Given the description of an element on the screen output the (x, y) to click on. 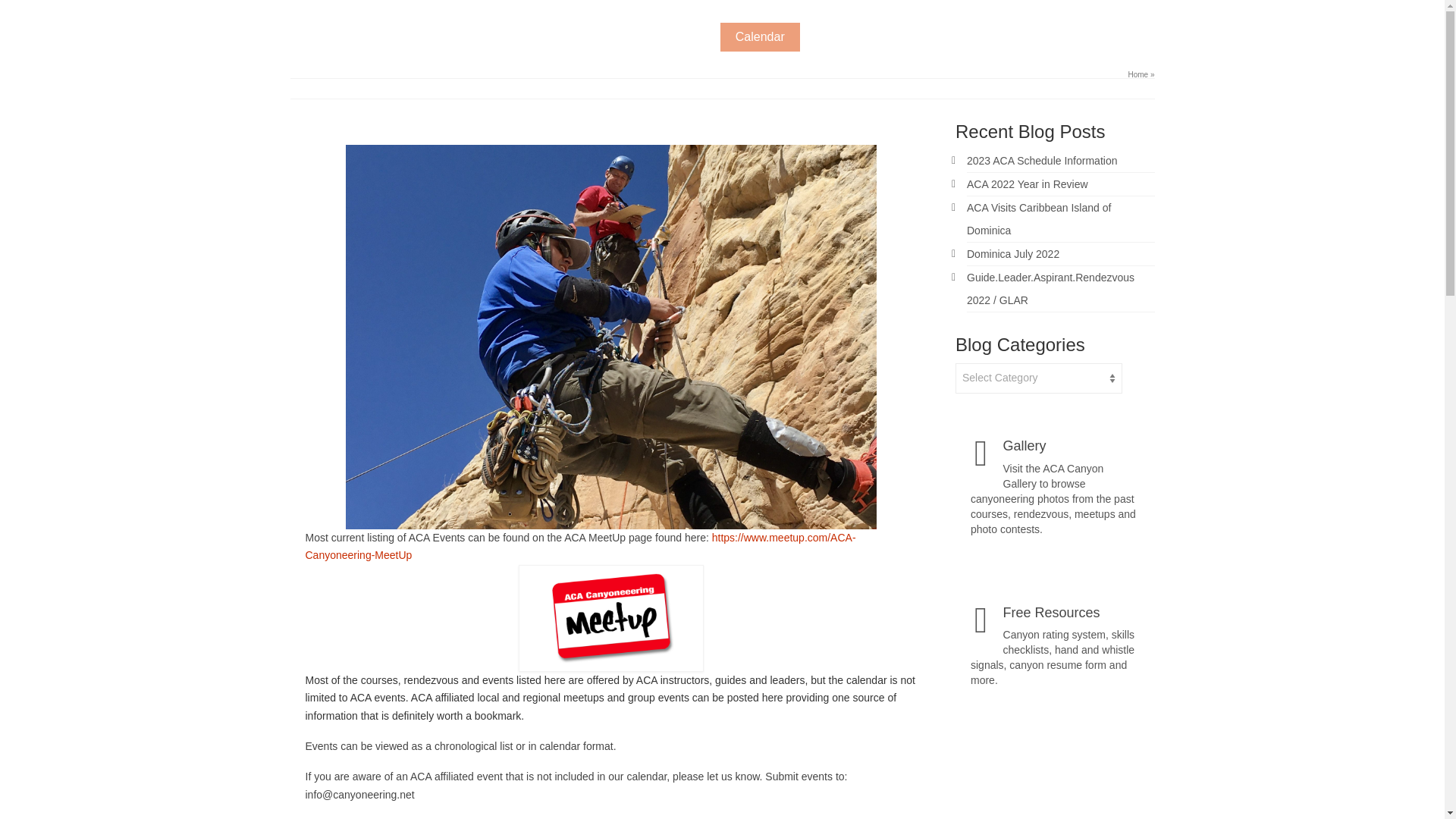
Login (1124, 36)
Guides (917, 36)
ACA (334, 20)
Home (1137, 74)
About Us (680, 36)
Calendar (759, 36)
Blog (979, 36)
Programs (840, 36)
ACA (334, 20)
